Given the description of an element on the screen output the (x, y) to click on. 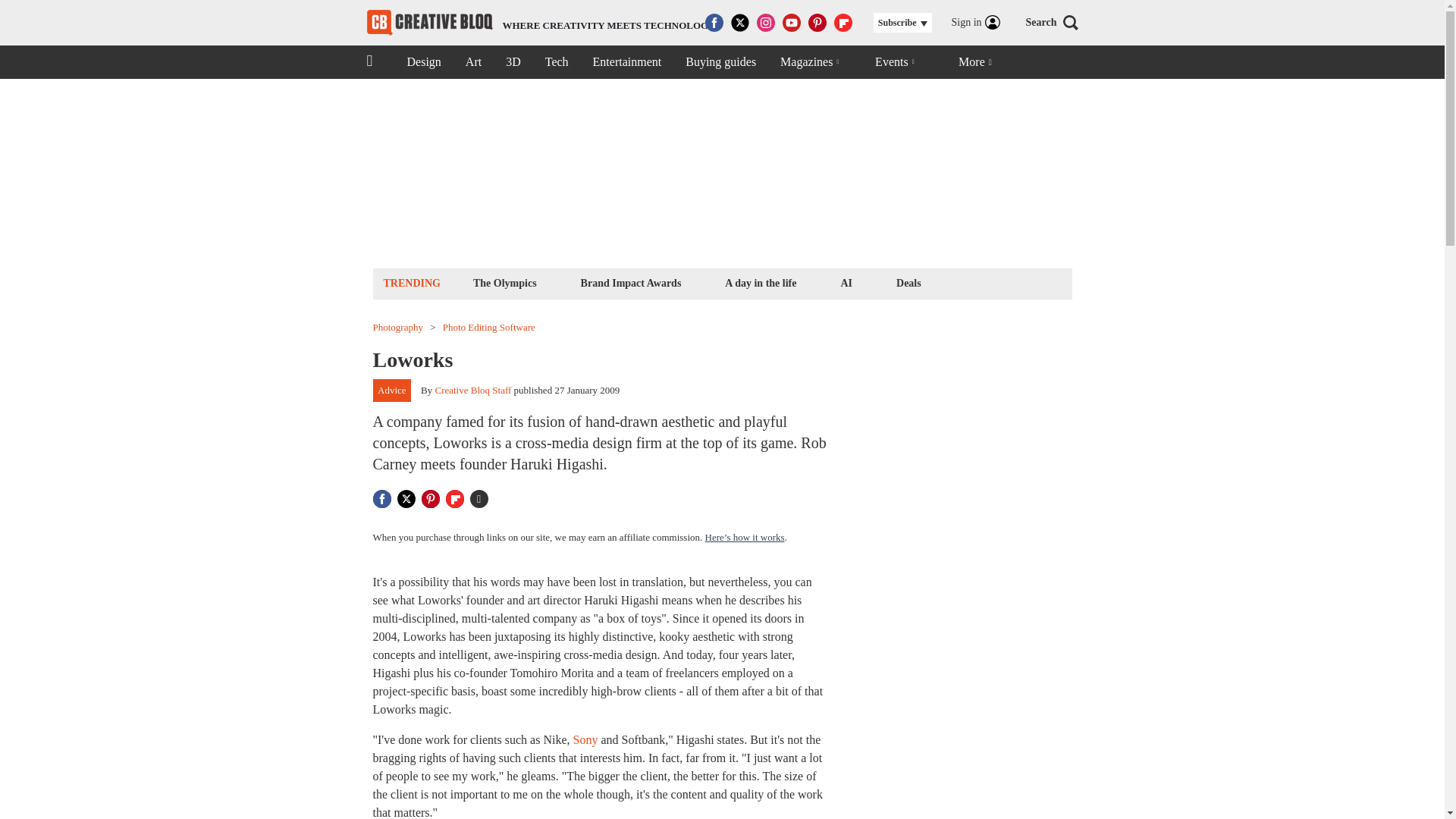
Creative Bloq (541, 22)
Art (429, 22)
A day in the life (472, 61)
Tech (760, 282)
Deals (556, 61)
The Olympics (908, 282)
Buying guides (504, 282)
Design (720, 61)
Photography (423, 61)
Entertainment (397, 327)
Brand Impact Awards (627, 61)
3D (631, 282)
AI (512, 61)
Advice (845, 282)
